Given the description of an element on the screen output the (x, y) to click on. 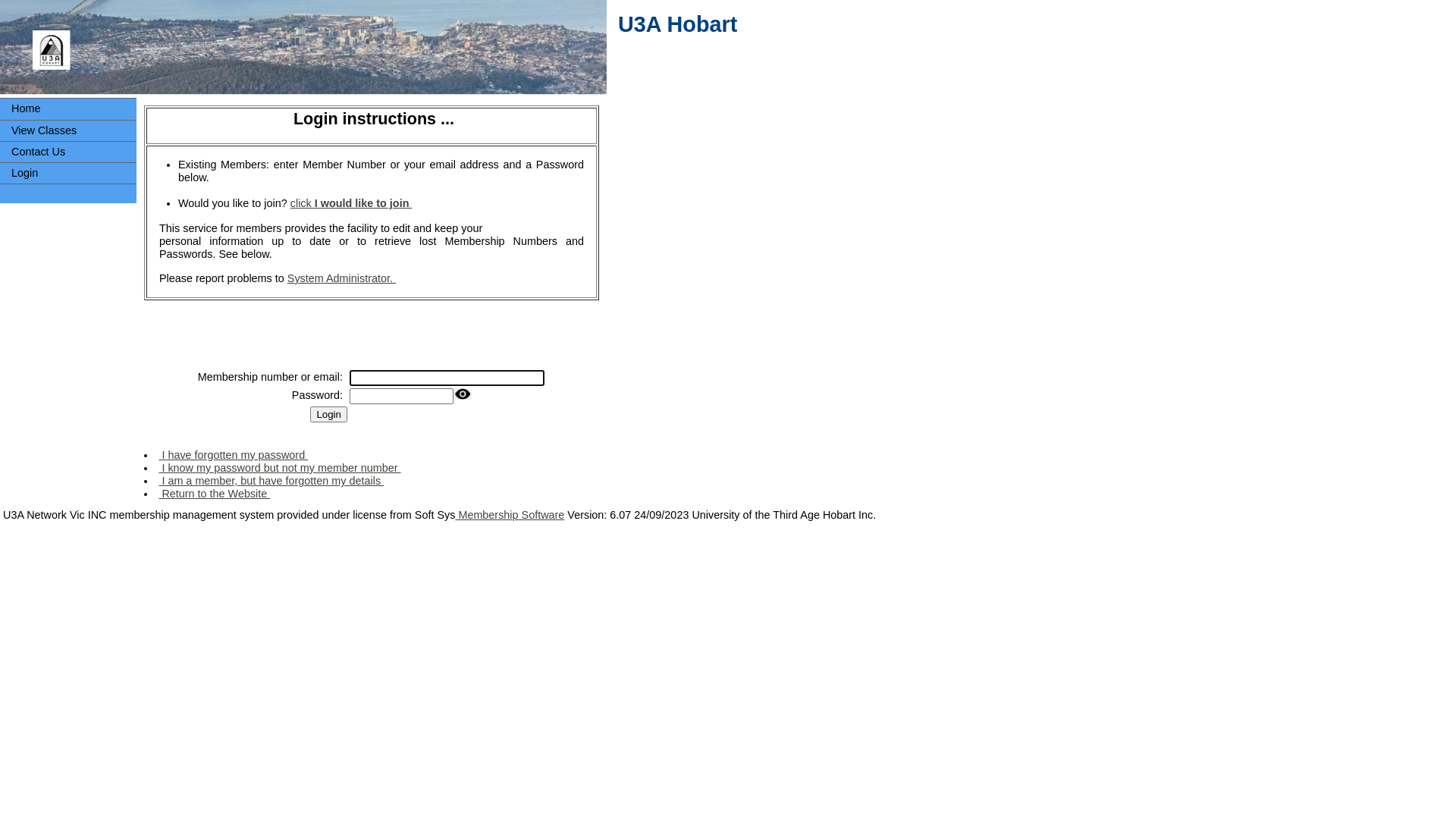
 I am a member, but have forgotten my details  Element type: text (270, 480)
Login Element type: text (68, 173)
 Return to the Website  Element type: text (213, 493)
System Administrator.  Element type: text (341, 278)
 I know my password but not my member number  Element type: text (279, 467)
 I have forgotten my password  Element type: text (232, 454)
Membership Software Element type: text (509, 514)
View Classes Element type: text (68, 130)
Home Element type: text (68, 108)
Contact Us Element type: text (68, 151)
click I would like to join  Element type: text (351, 203)
Login Element type: text (328, 414)
